Given the description of an element on the screen output the (x, y) to click on. 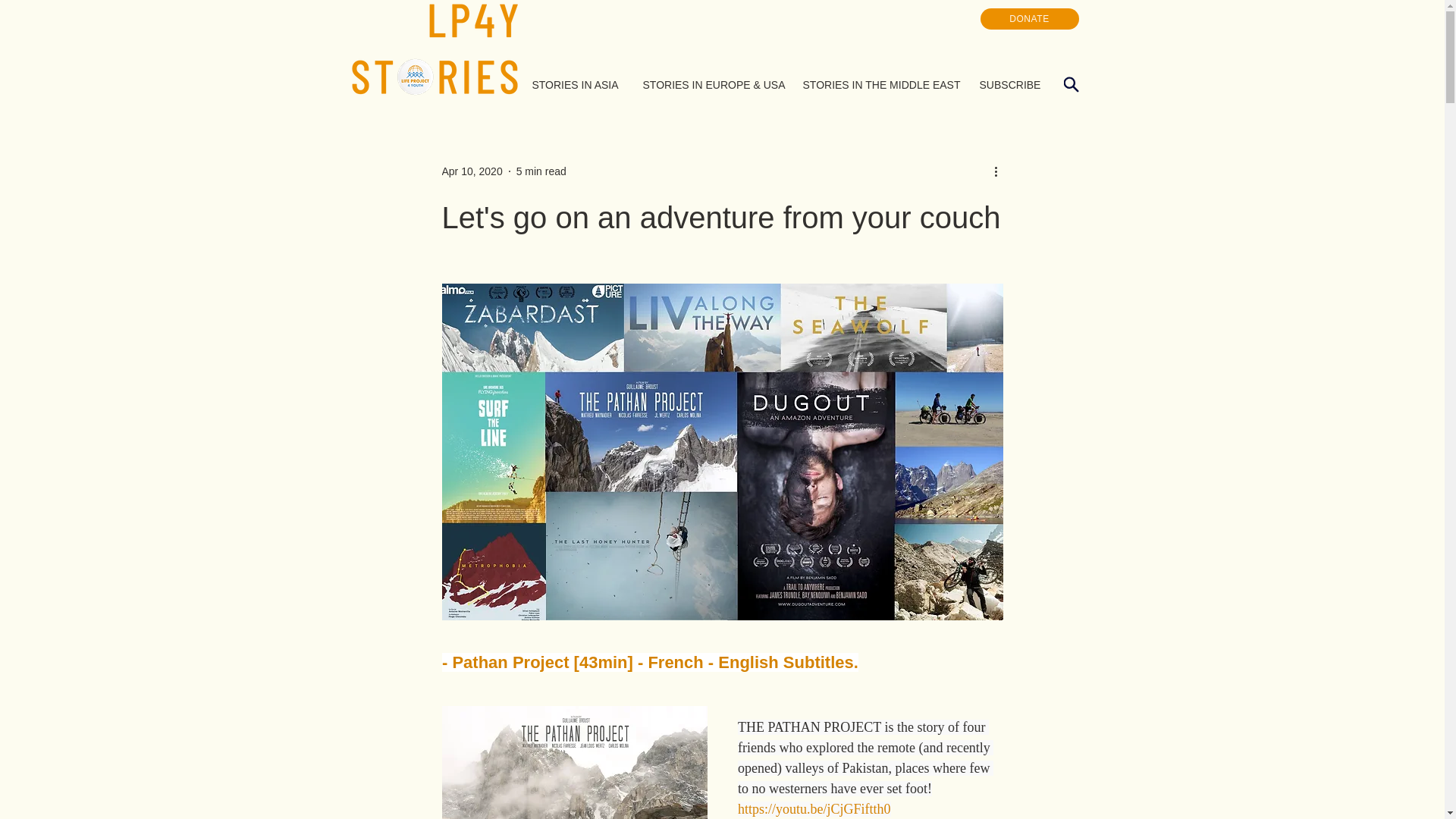
5 min read (541, 171)
SUBSCRIBE (1008, 84)
DONATE (1028, 18)
Apr 10, 2020 (471, 171)
